Given the description of an element on the screen output the (x, y) to click on. 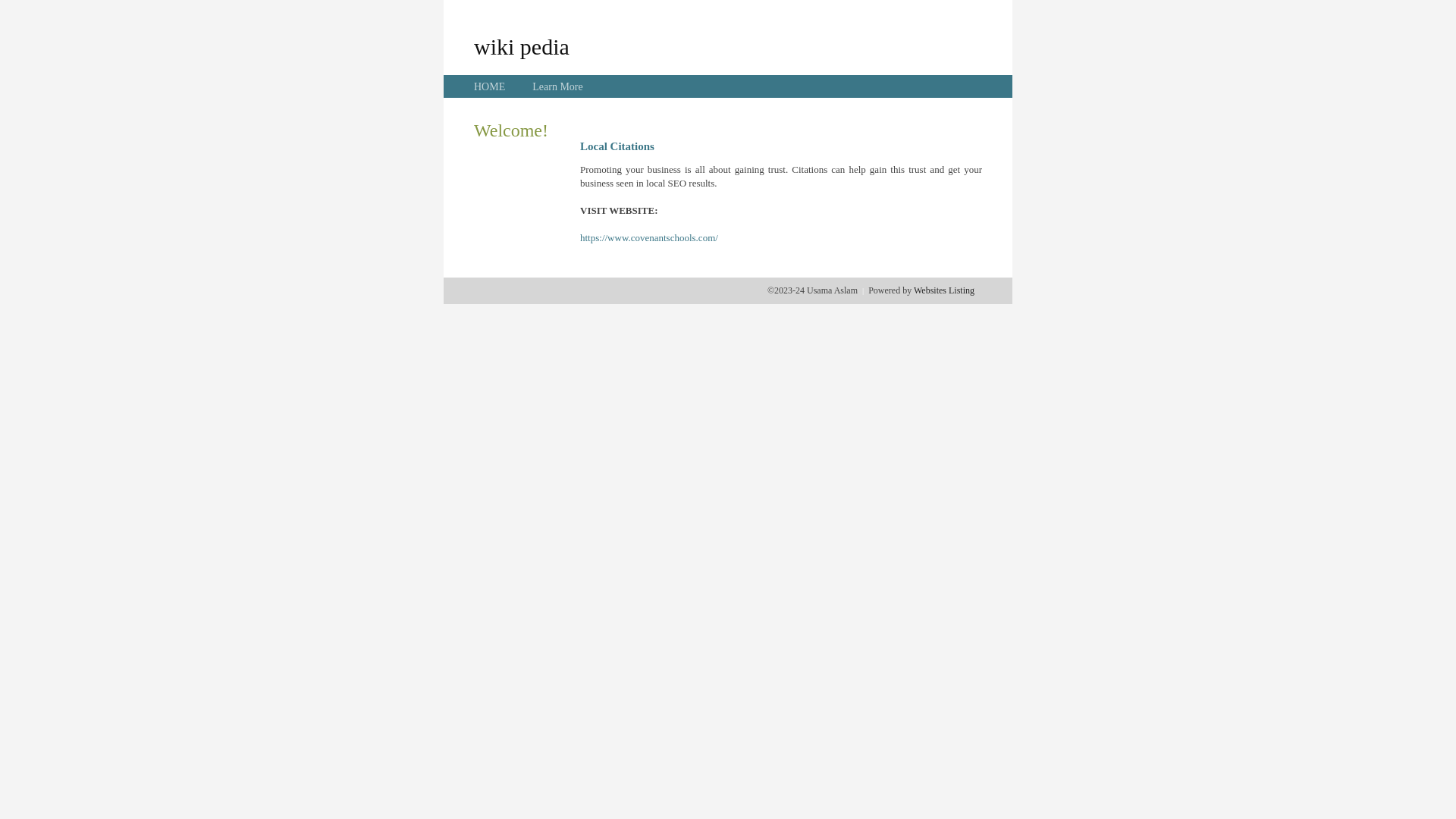
https://www.covenantschools.com/ Element type: text (649, 237)
Learn More Element type: text (557, 86)
Websites Listing Element type: text (943, 290)
wiki pedia Element type: text (521, 46)
HOME Element type: text (489, 86)
